Given the description of an element on the screen output the (x, y) to click on. 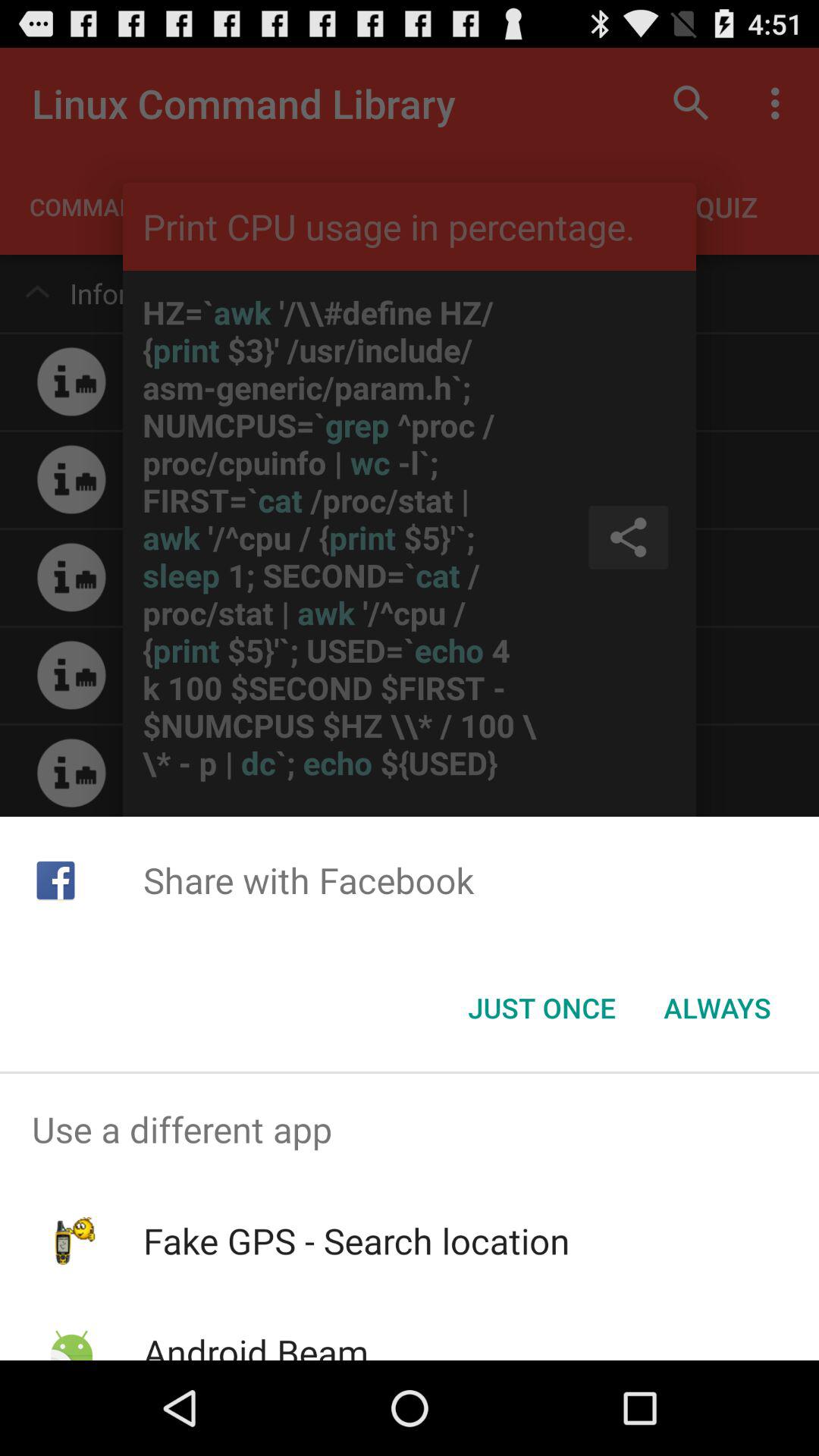
jump to android beam icon (255, 1344)
